Given the description of an element on the screen output the (x, y) to click on. 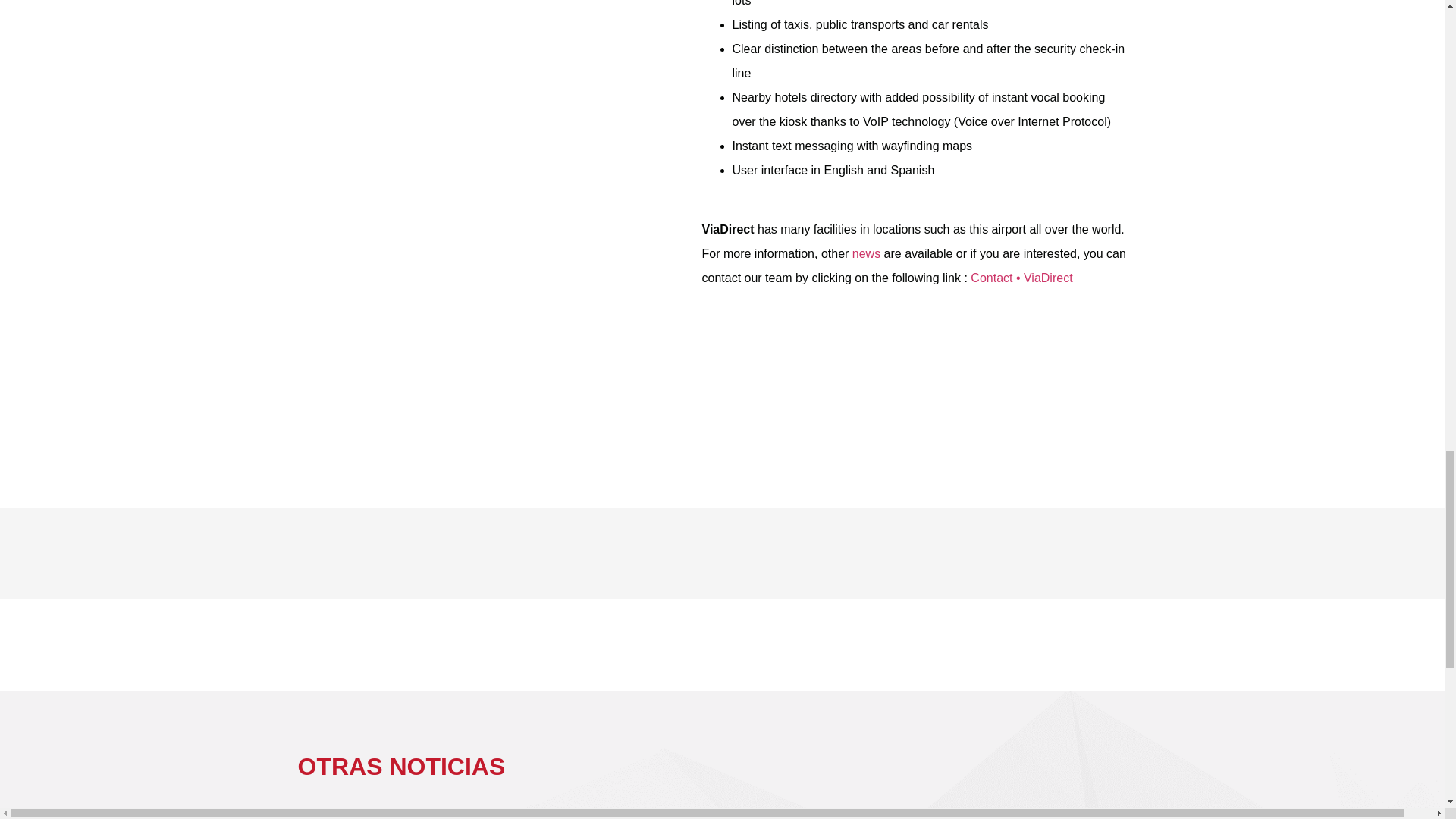
news (865, 253)
